Given the description of an element on the screen output the (x, y) to click on. 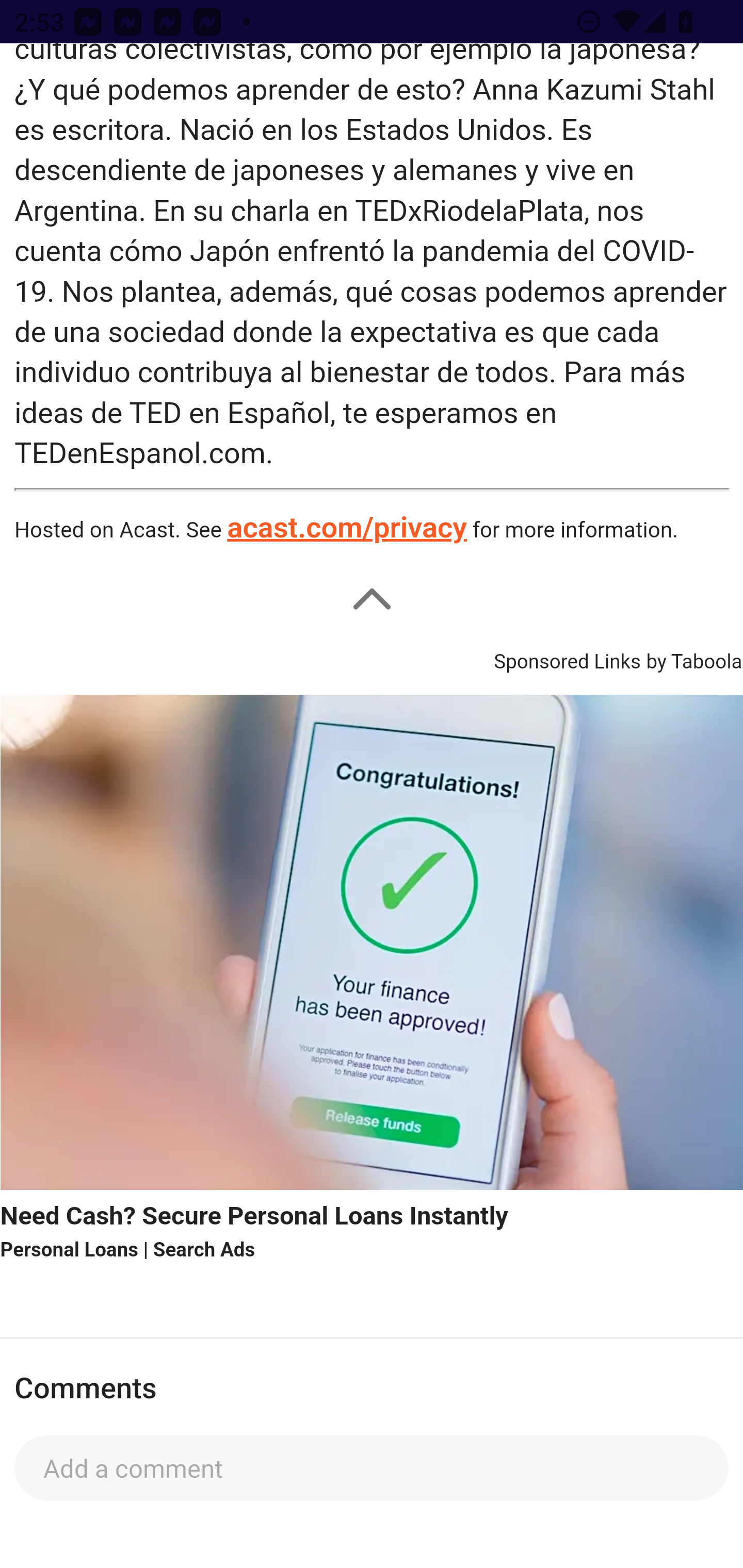
acast.com/privacy (346, 529)
Sponsored Links (566, 659)
by Taboola (693, 659)
Add a comment (371, 1467)
